Given the description of an element on the screen output the (x, y) to click on. 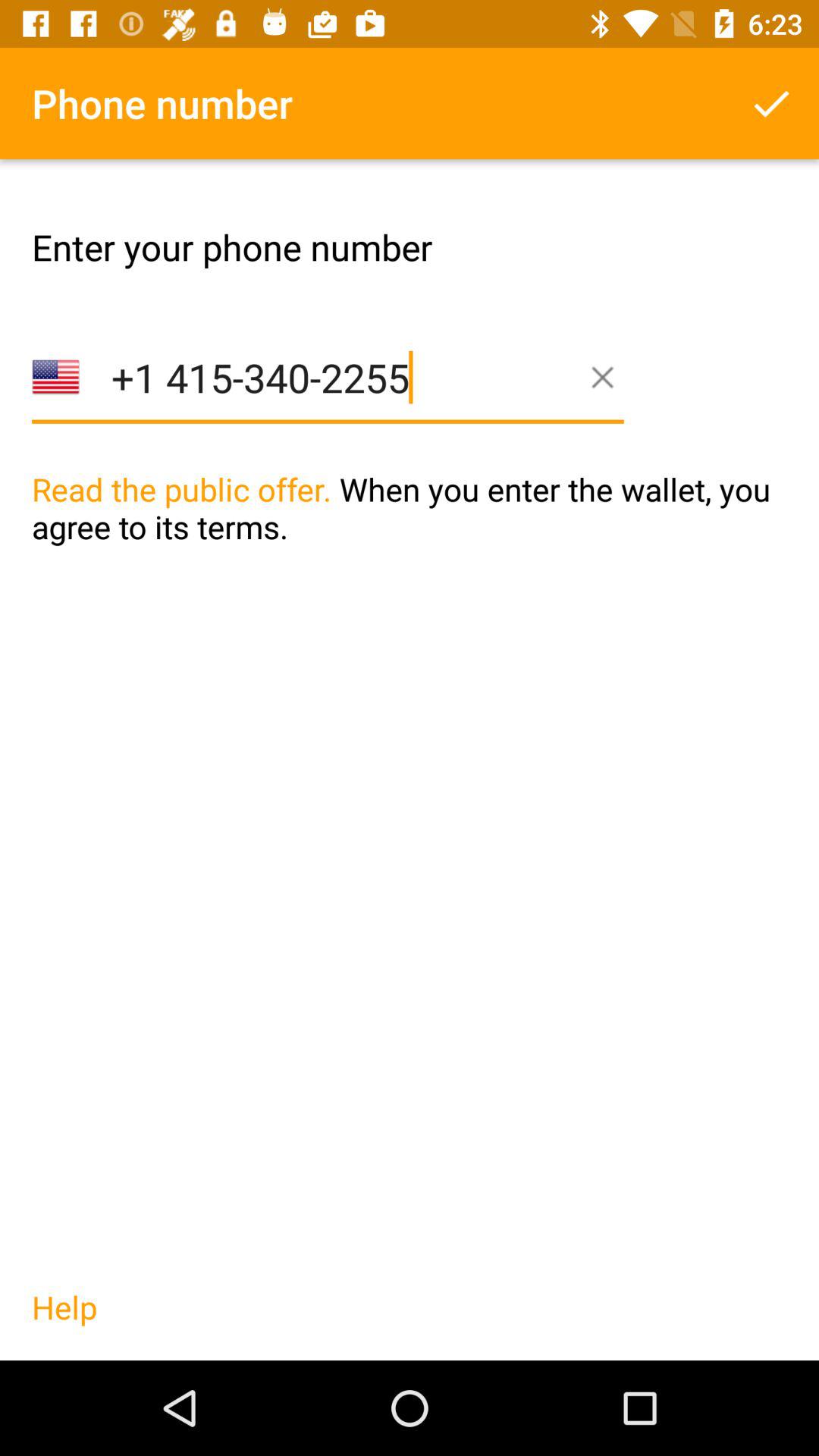
launch help at the bottom left corner (64, 1322)
